Given the description of an element on the screen output the (x, y) to click on. 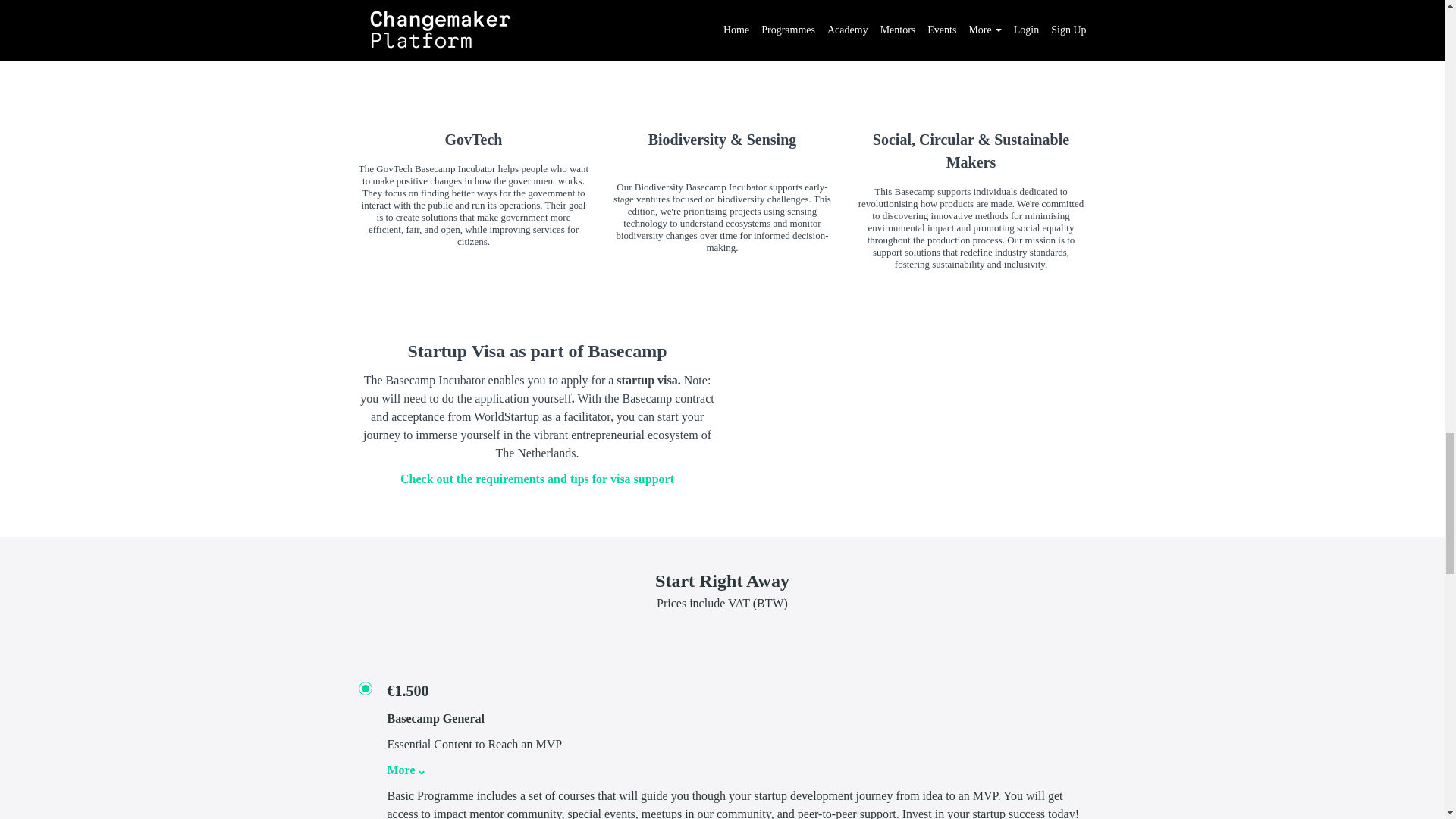
Check out the requirements and tips for visa support (537, 478)
More (402, 770)
